Given the description of an element on the screen output the (x, y) to click on. 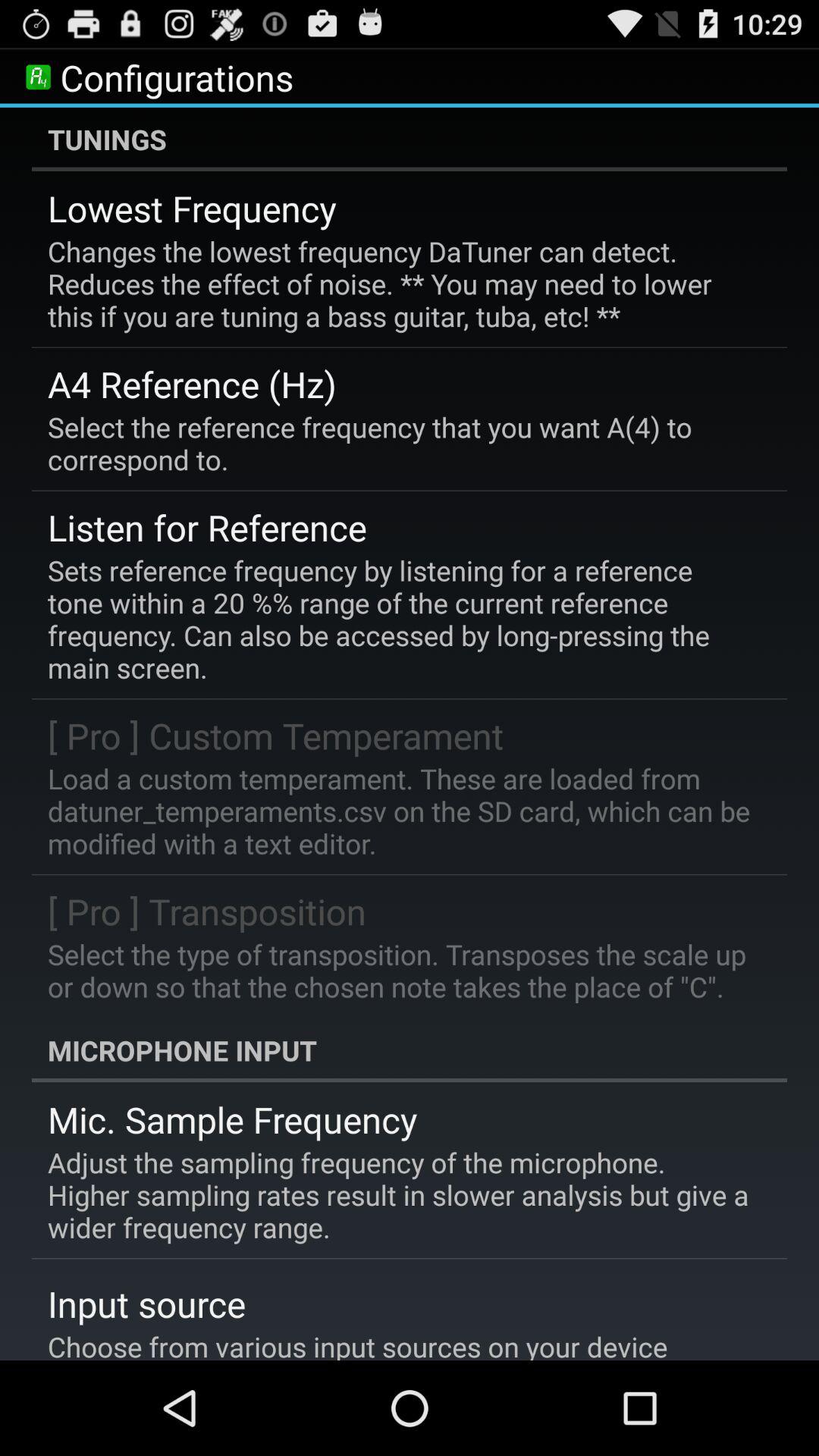
launch item below configurations (409, 139)
